Given the description of an element on the screen output the (x, y) to click on. 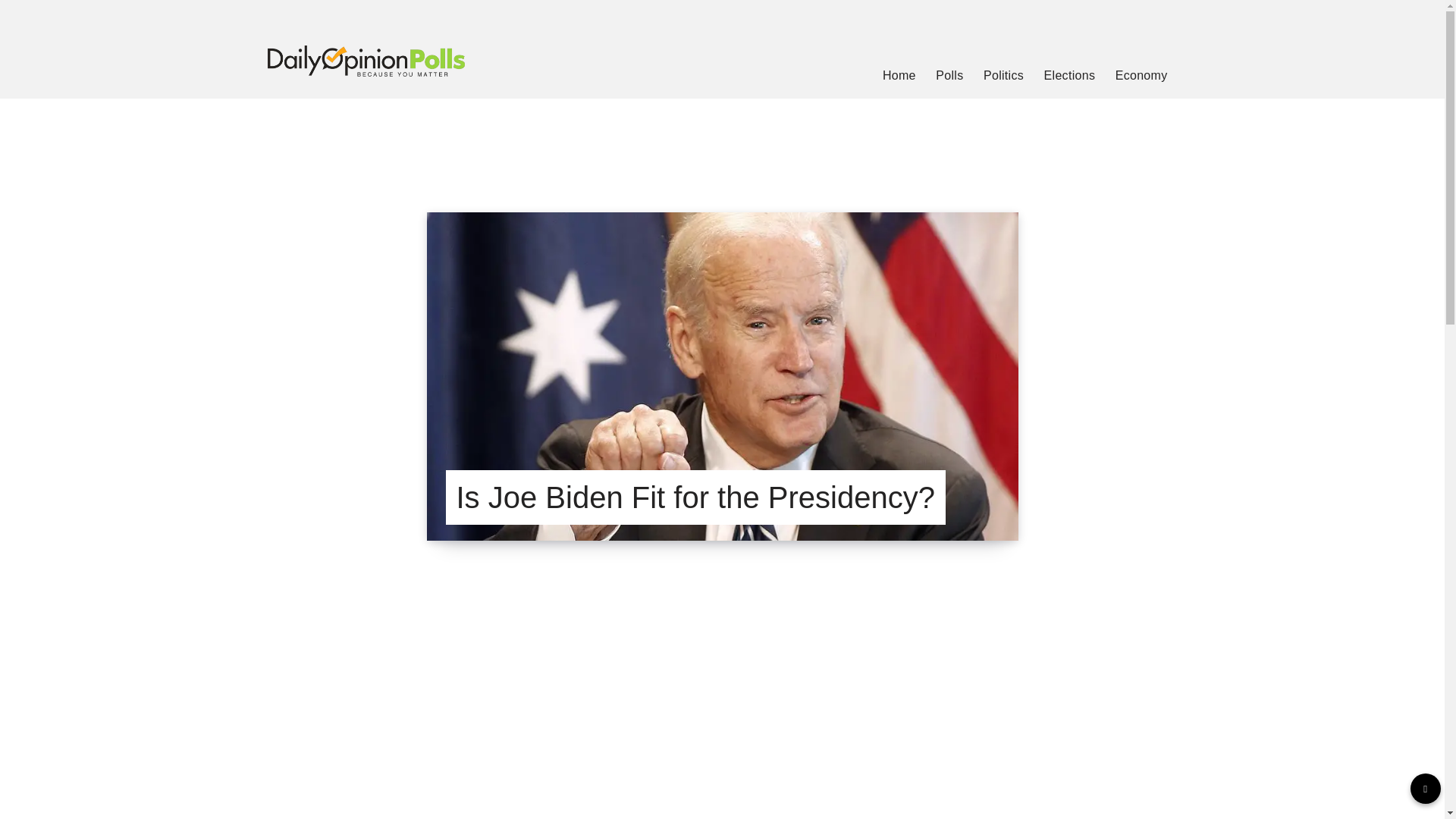
Elections (1069, 75)
Economy (1141, 75)
Home (898, 75)
Polls (949, 75)
Poll August 20P (721, 735)
Politics (1003, 75)
